Given the description of an element on the screen output the (x, y) to click on. 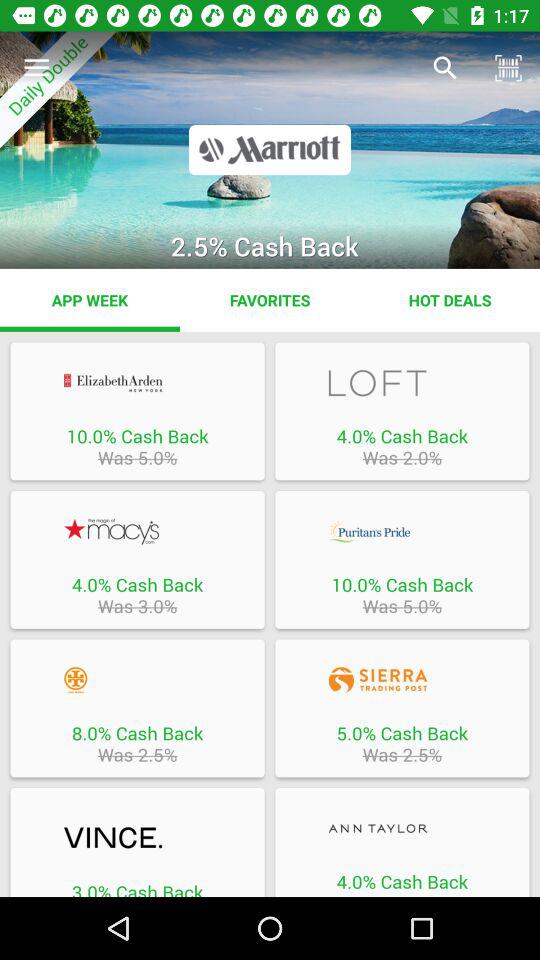
turn off item to the right of app week app (270, 299)
